Given the description of an element on the screen output the (x, y) to click on. 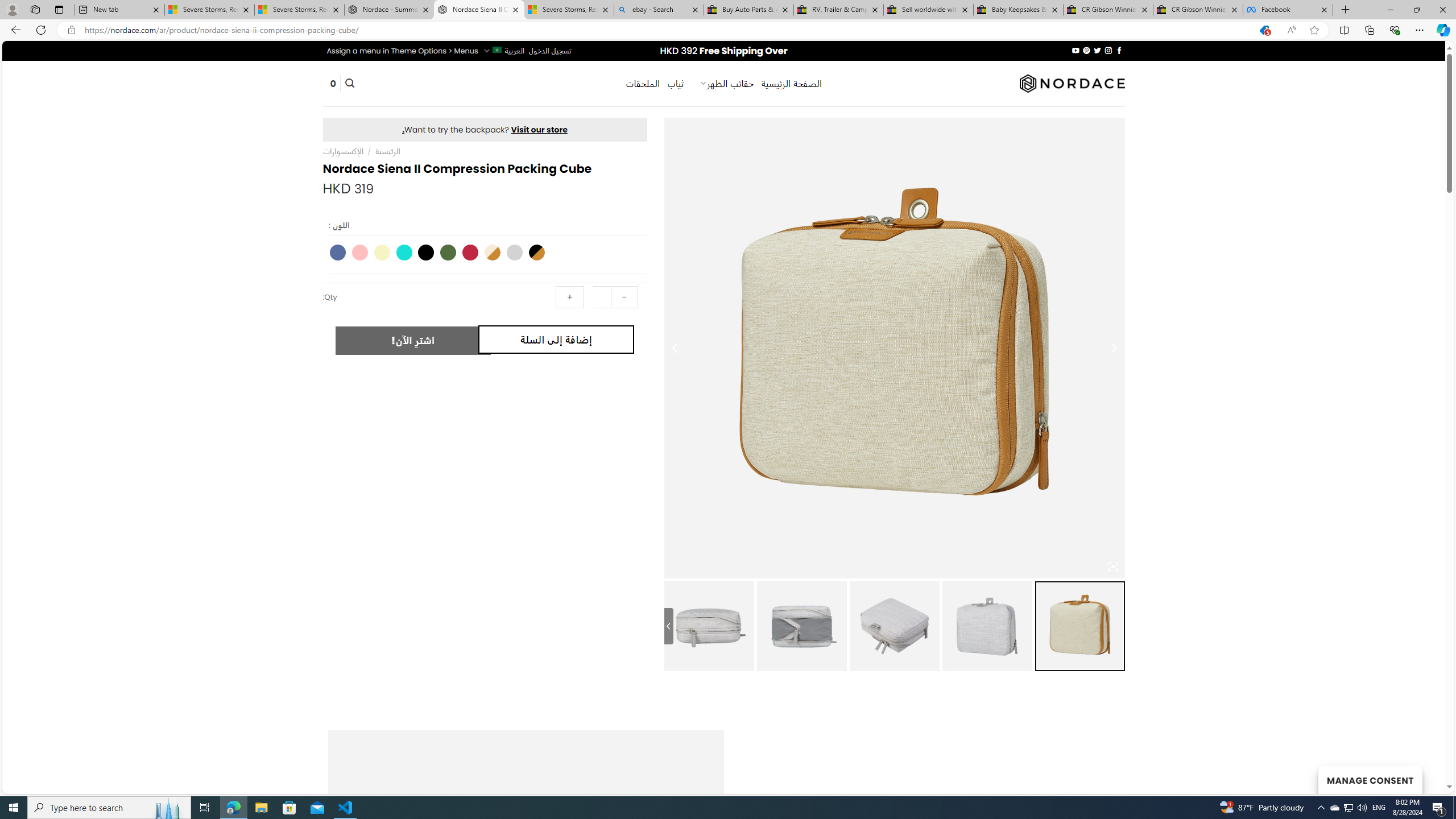
Minimize (1390, 9)
+ (569, 296)
Split screen (1344, 29)
 0 (333, 83)
Nordace Siena II Compression Packing Cube (478, 9)
Buy Auto Parts & Accessories | eBay (747, 9)
  0 (333, 83)
Add this page to favorites (Ctrl+D) (1314, 29)
ebay - Search (658, 9)
Browser essentials (1394, 29)
